Given the description of an element on the screen output the (x, y) to click on. 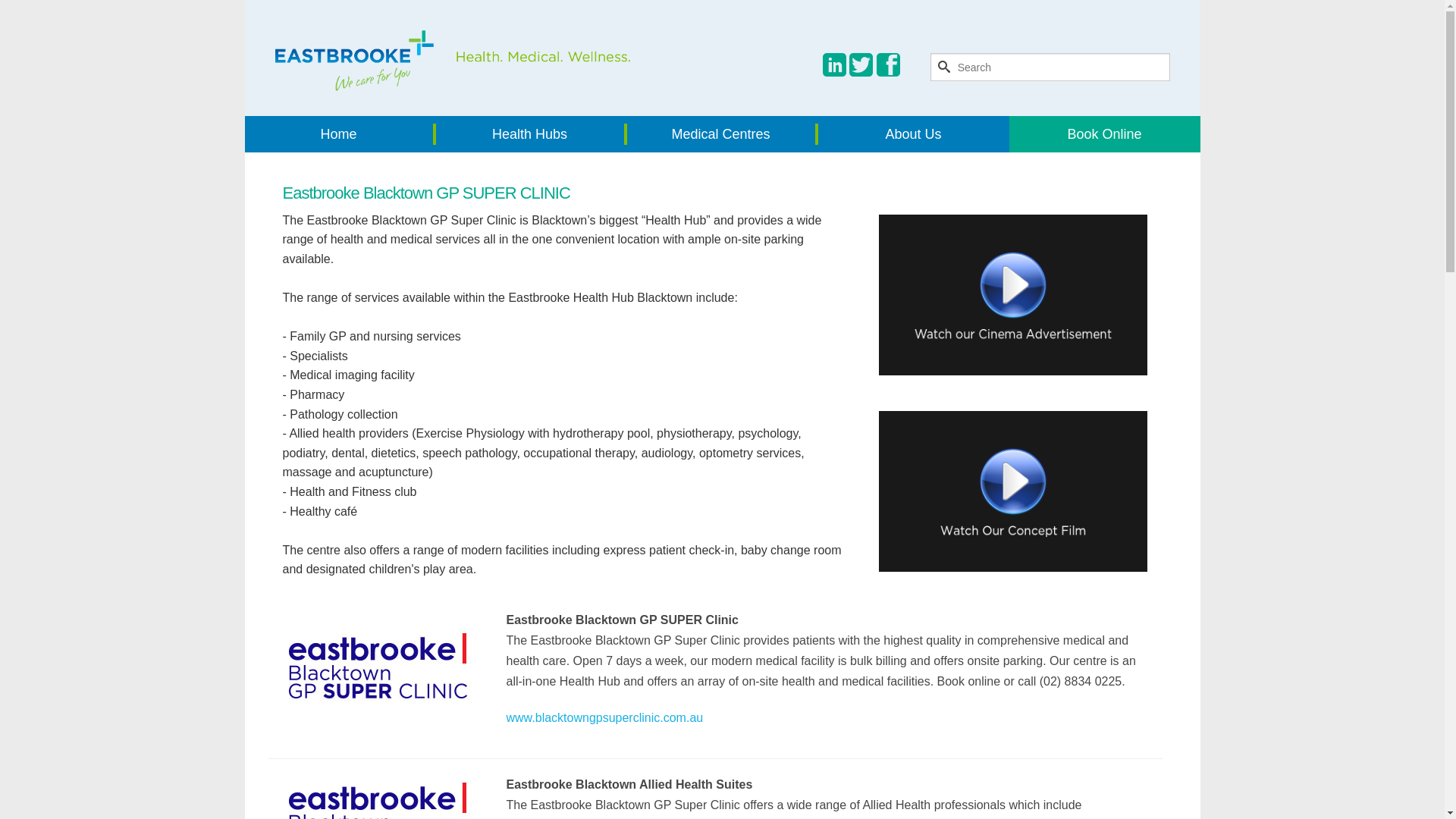
www.blacktowngpsuperclinic.com.au Element type: text (604, 717)
Book Online Element type: text (1103, 134)
Medical Centres Element type: text (721, 133)
Health Hubs Element type: text (530, 133)
About Us Element type: text (912, 133)
Home Element type: text (339, 133)
